Given the description of an element on the screen output the (x, y) to click on. 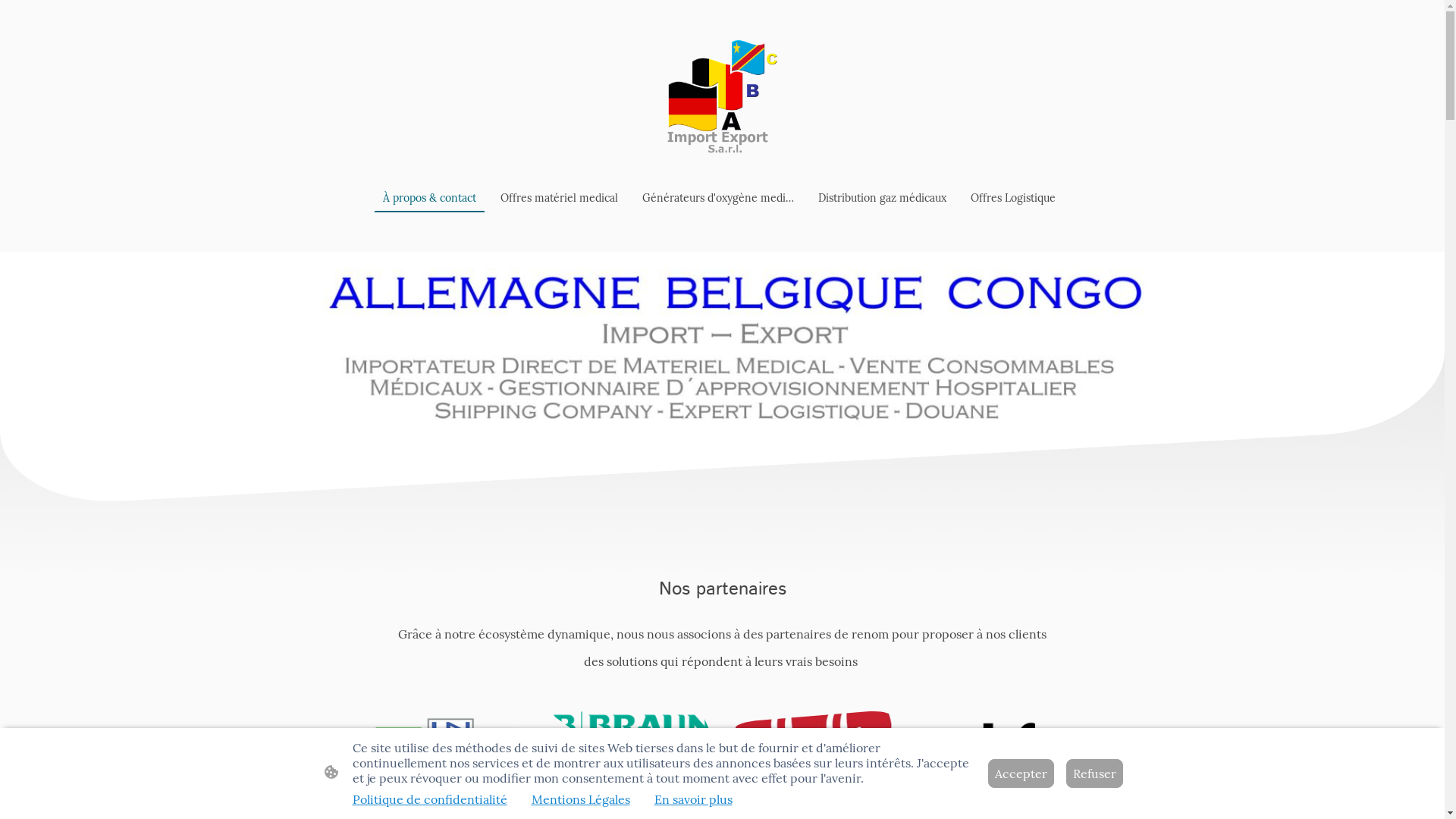
Offres Logistique Element type: text (1013, 197)
Refuser Element type: text (1094, 773)
En savoir plus Element type: text (692, 798)
Accepter Element type: text (1020, 773)
